Given the description of an element on the screen output the (x, y) to click on. 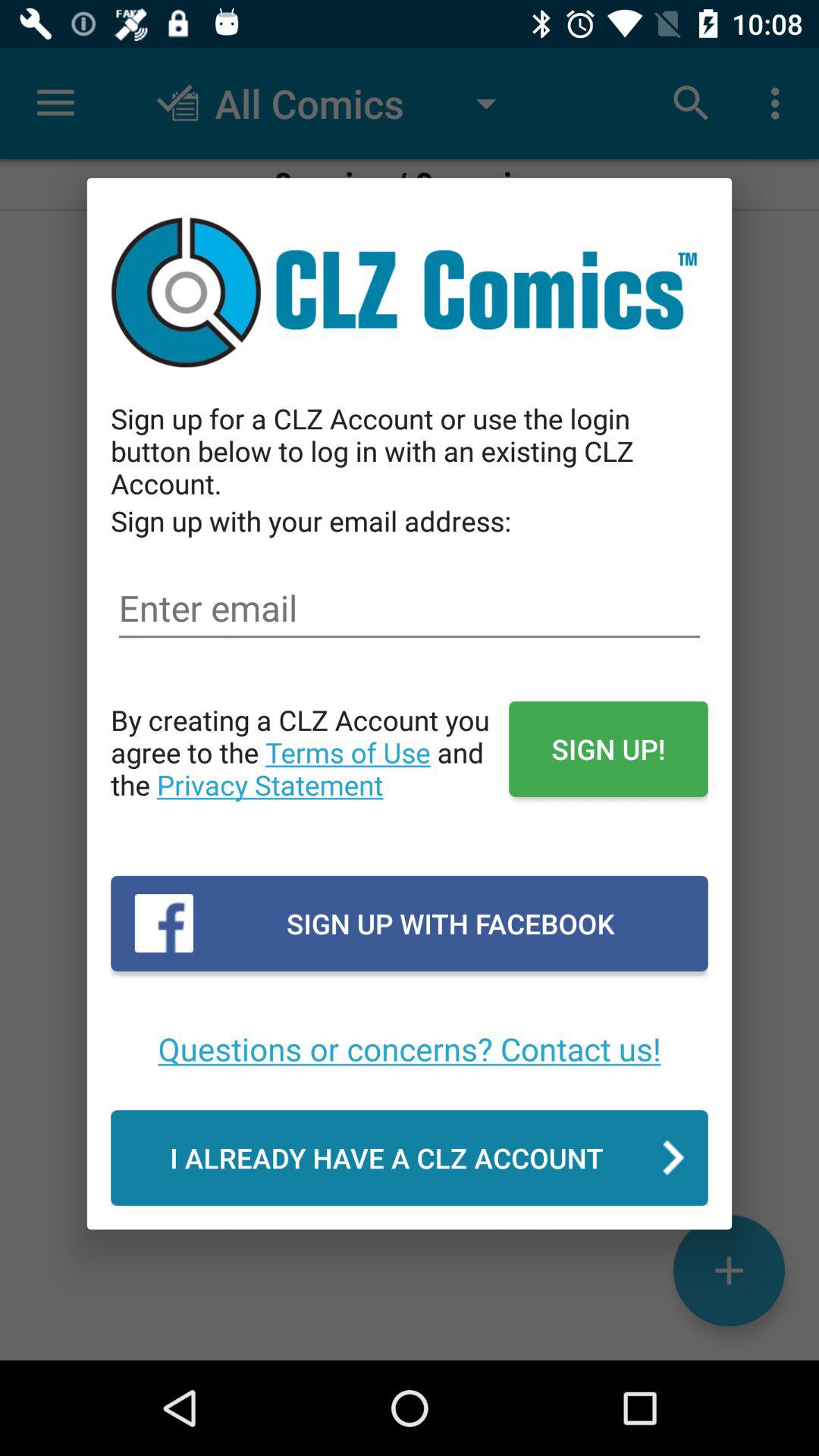
select the icon below sign up with (409, 1048)
